Given the description of an element on the screen output the (x, y) to click on. 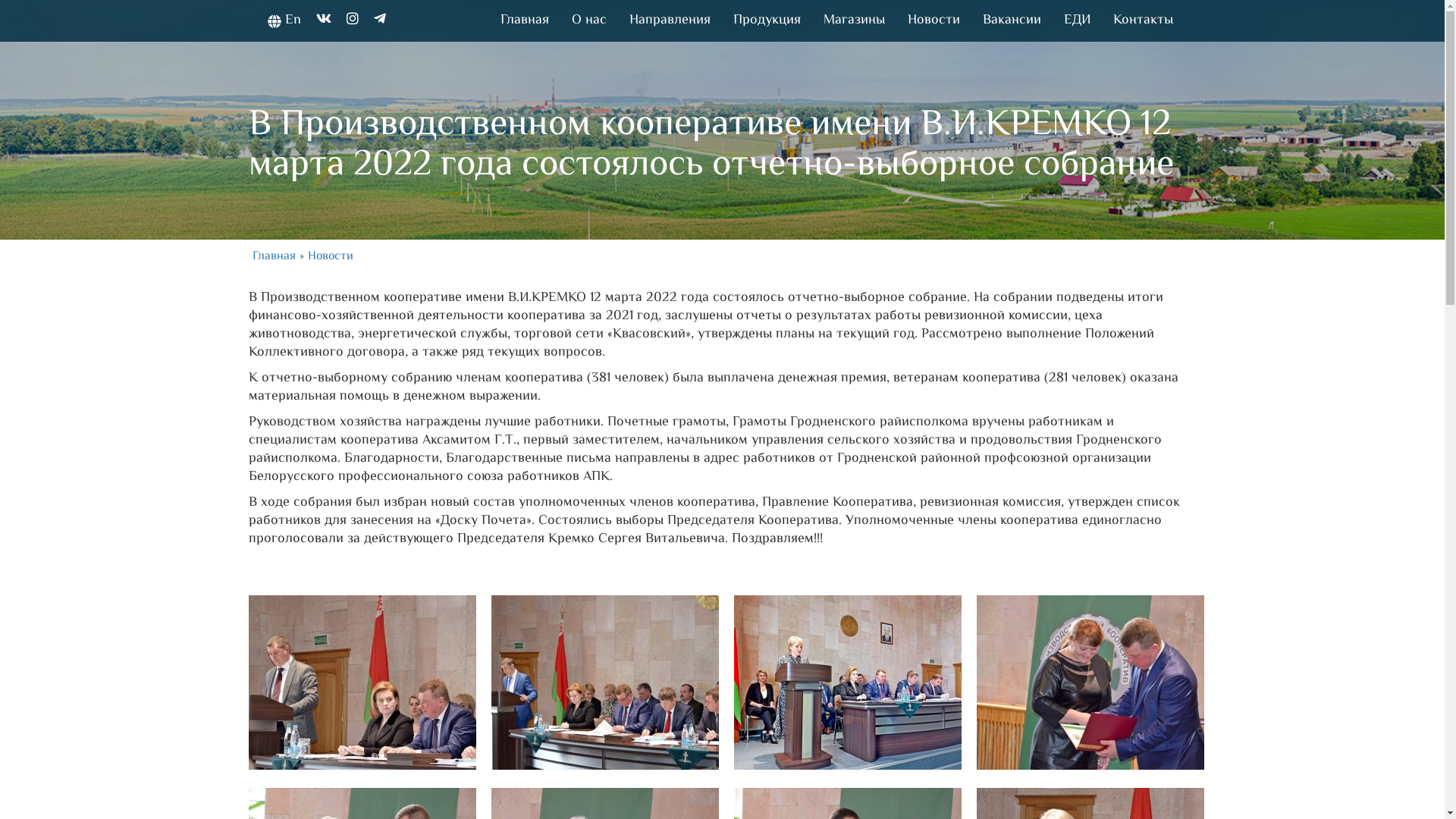
En Element type: text (283, 20)
